Given the description of an element on the screen output the (x, y) to click on. 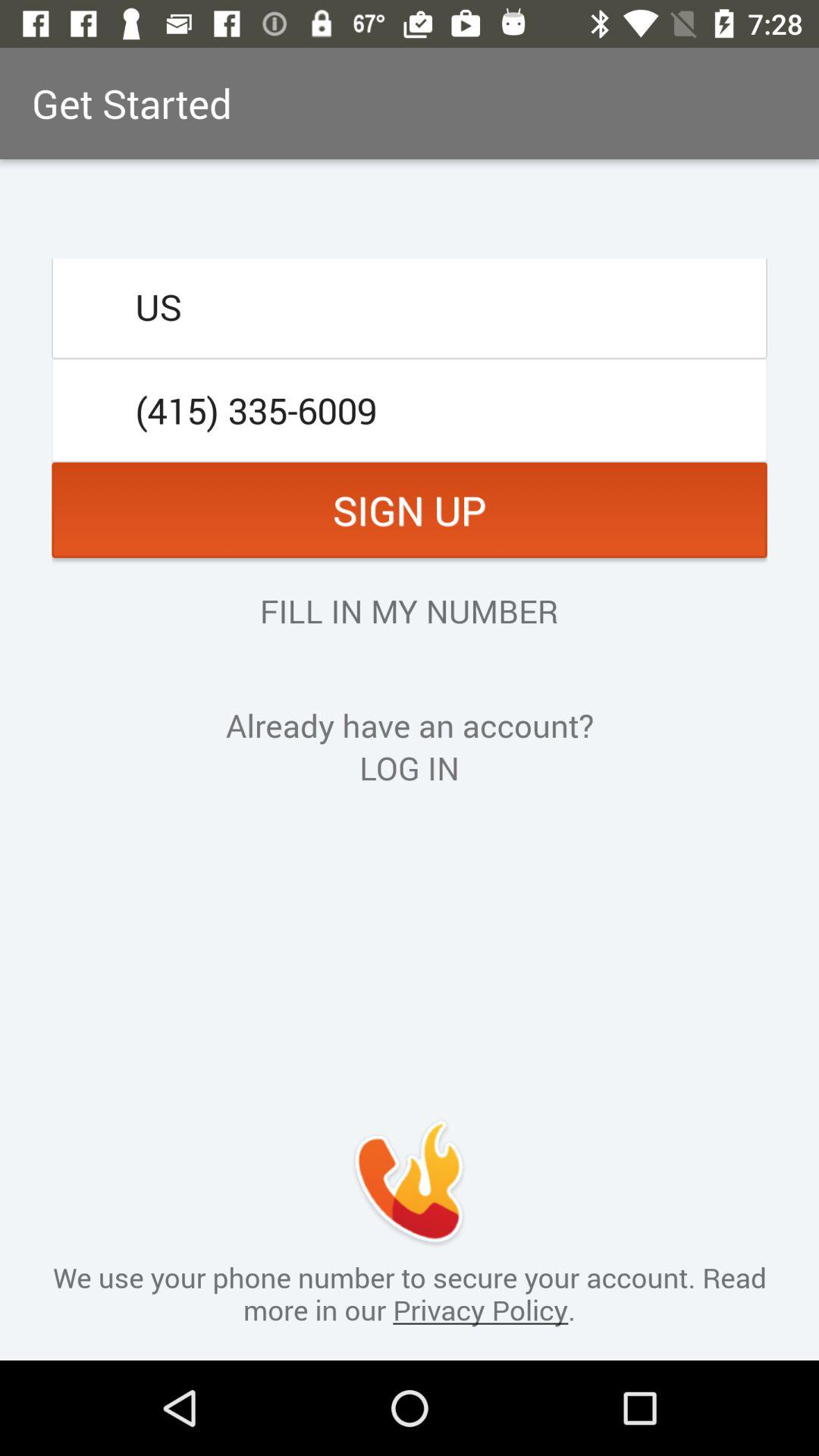
turn on us (409, 306)
